Given the description of an element on the screen output the (x, y) to click on. 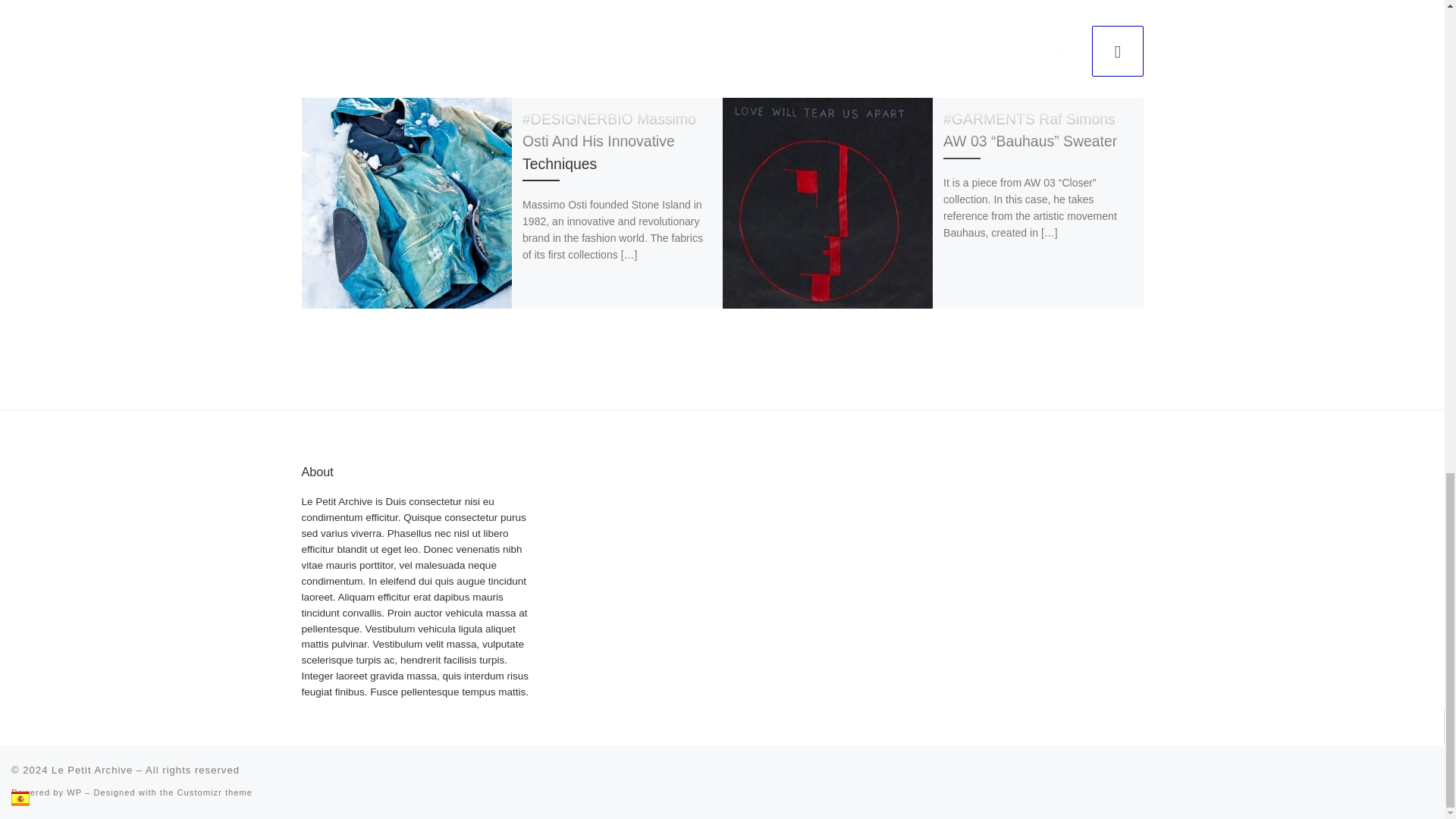
Next related articles (1117, 50)
Previous related articles (1061, 50)
Customizr theme (215, 791)
Powered by WordPress (73, 791)
Le Petit Archive (91, 769)
Le Petit Archive (91, 769)
